Given the description of an element on the screen output the (x, y) to click on. 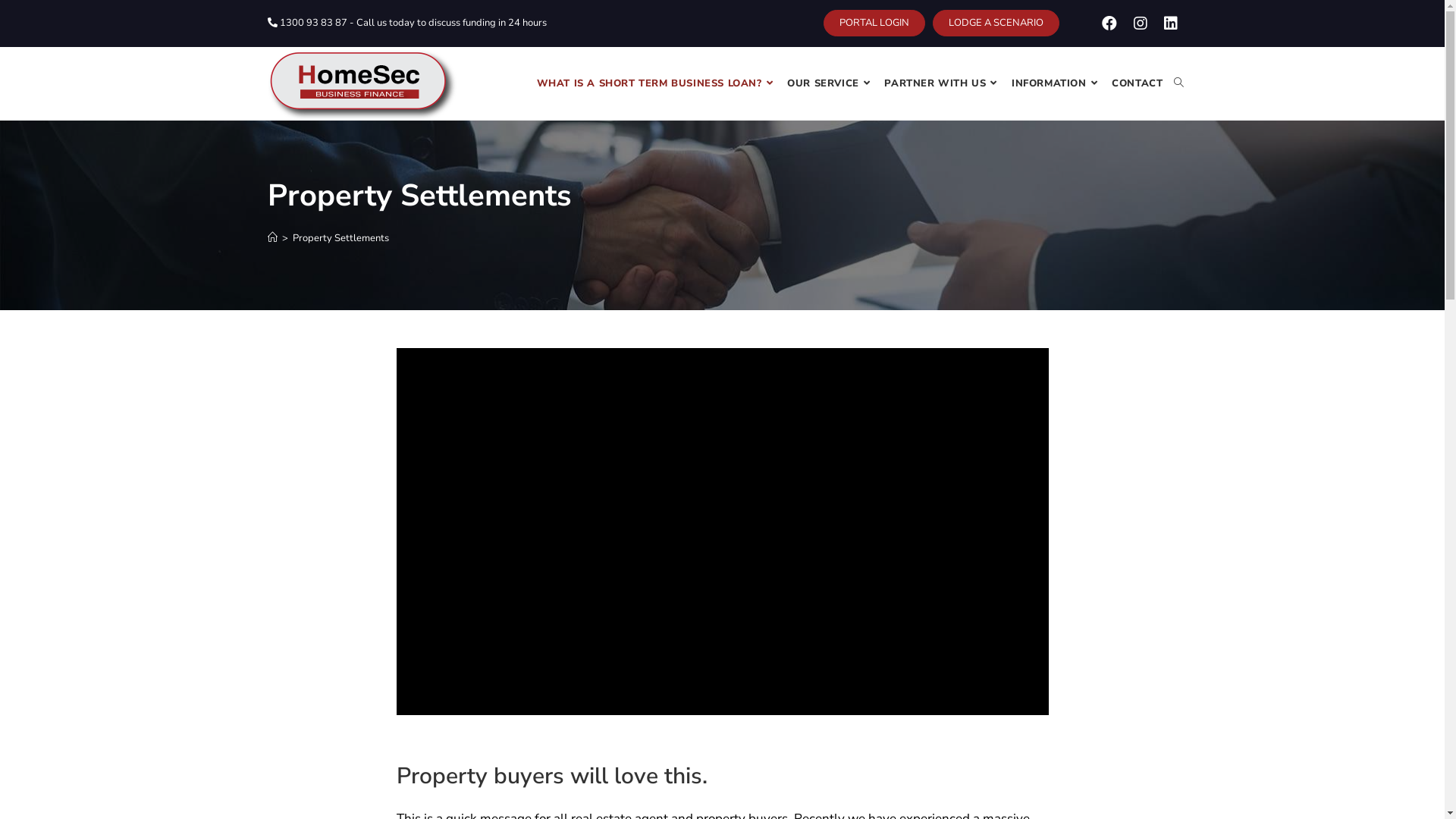
CONTACT Element type: text (1136, 83)
1300 93 83 87 Element type: text (306, 22)
WHAT IS A SHORT TERM BUSINESS LOAN? Element type: text (656, 83)
Property Settlements Element type: text (340, 237)
vimeo Video Player Element type: hover (721, 531)
LODGE A SCENARIO Element type: text (995, 22)
INFORMATION Element type: text (1056, 83)
PARTNER WITH US Element type: text (942, 83)
PORTAL LOGIN Element type: text (874, 22)
OUR SERVICE Element type: text (829, 83)
